Given the description of an element on the screen output the (x, y) to click on. 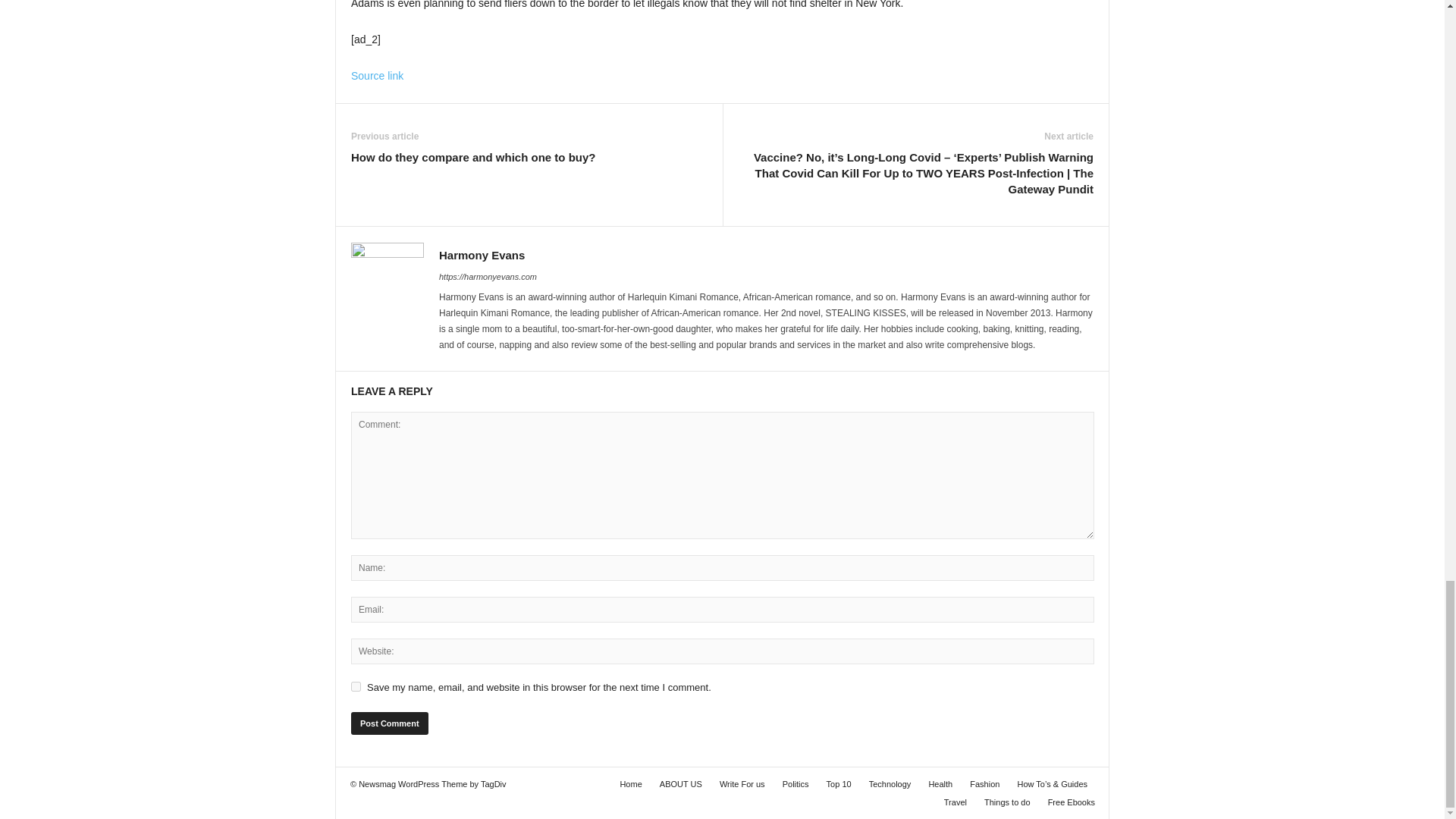
Post Comment (389, 722)
Source link (376, 75)
How do they compare and which one to buy? (472, 157)
yes (355, 686)
